Given the description of an element on the screen output the (x, y) to click on. 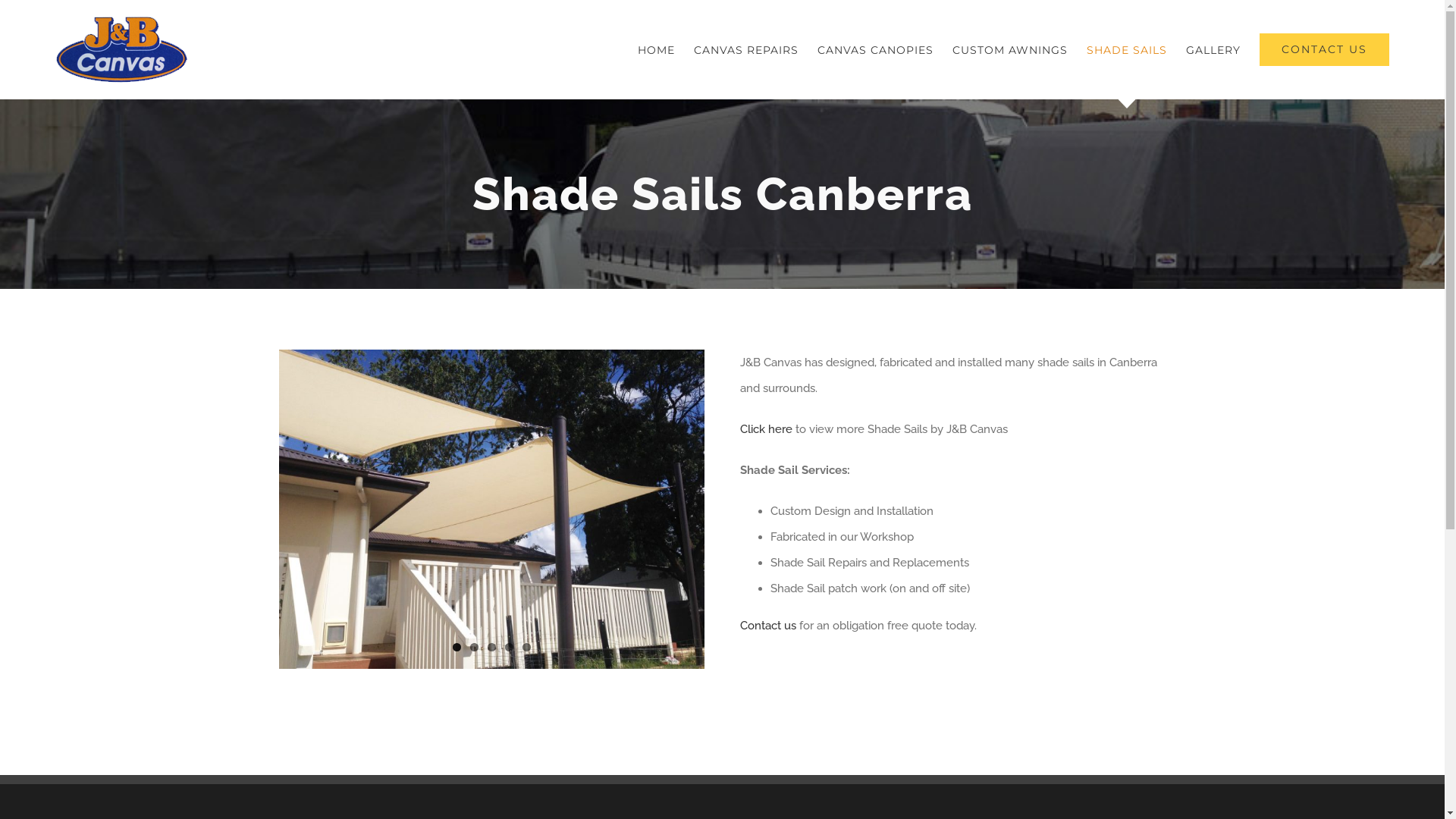
Click here Element type: text (766, 429)
CONTACT US Element type: text (1324, 49)
GALLERY Element type: text (1213, 49)
1 Element type: text (456, 647)
CUSTOM AWNINGS Element type: text (1009, 49)
4 Element type: text (509, 647)
Contact us Element type: text (769, 625)
CANVAS REPAIRS Element type: text (745, 49)
5 Element type: text (526, 647)
3 Element type: text (491, 647)
2 Element type: text (474, 647)
HOME Element type: text (655, 49)
SHADE SAILS Element type: text (1126, 49)
CANVAS CANOPIES Element type: text (875, 49)
